Given the description of an element on the screen output the (x, y) to click on. 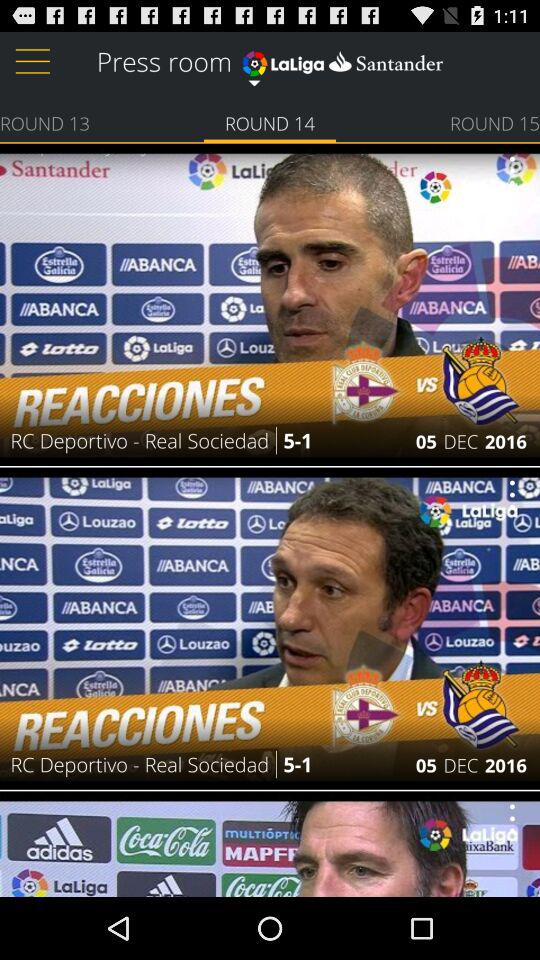
click item to the left of round 14 icon (45, 122)
